Given the description of an element on the screen output the (x, y) to click on. 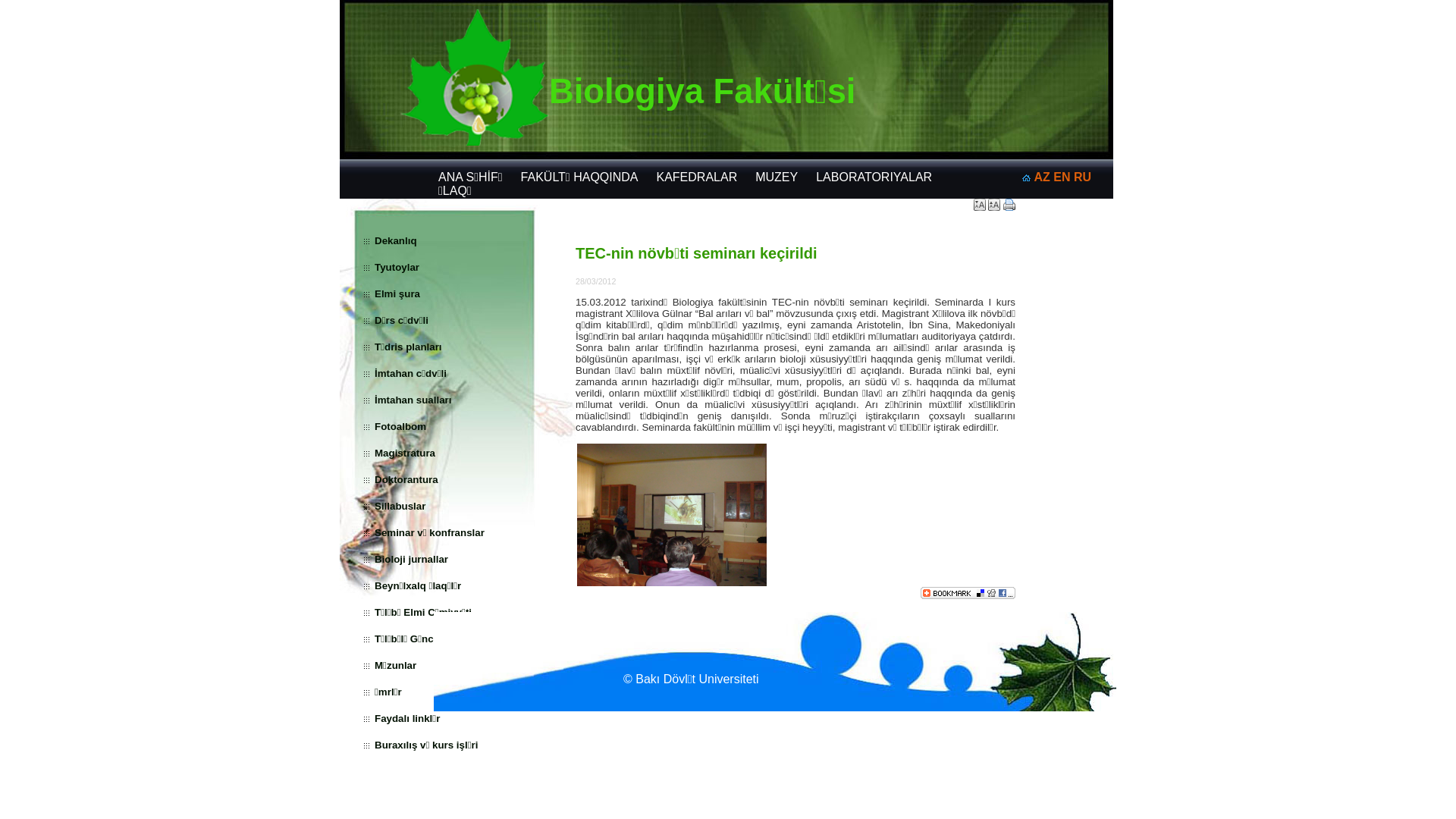
Tyutoylar Element type: text (396, 267)
Doktorantura Element type: text (406, 479)
Fotoalbom Element type: text (400, 426)
AZ Element type: text (1041, 176)
Bioloji jurnallar Element type: text (411, 558)
KAFEDRALAR Element type: text (696, 176)
EN Element type: text (1061, 176)
RU Element type: text (1082, 176)
MUZEY Element type: text (776, 176)
Magistratura Element type: text (404, 452)
LABORATORIYALAR Element type: text (873, 176)
Sillabuslar Element type: text (399, 505)
